Given the description of an element on the screen output the (x, y) to click on. 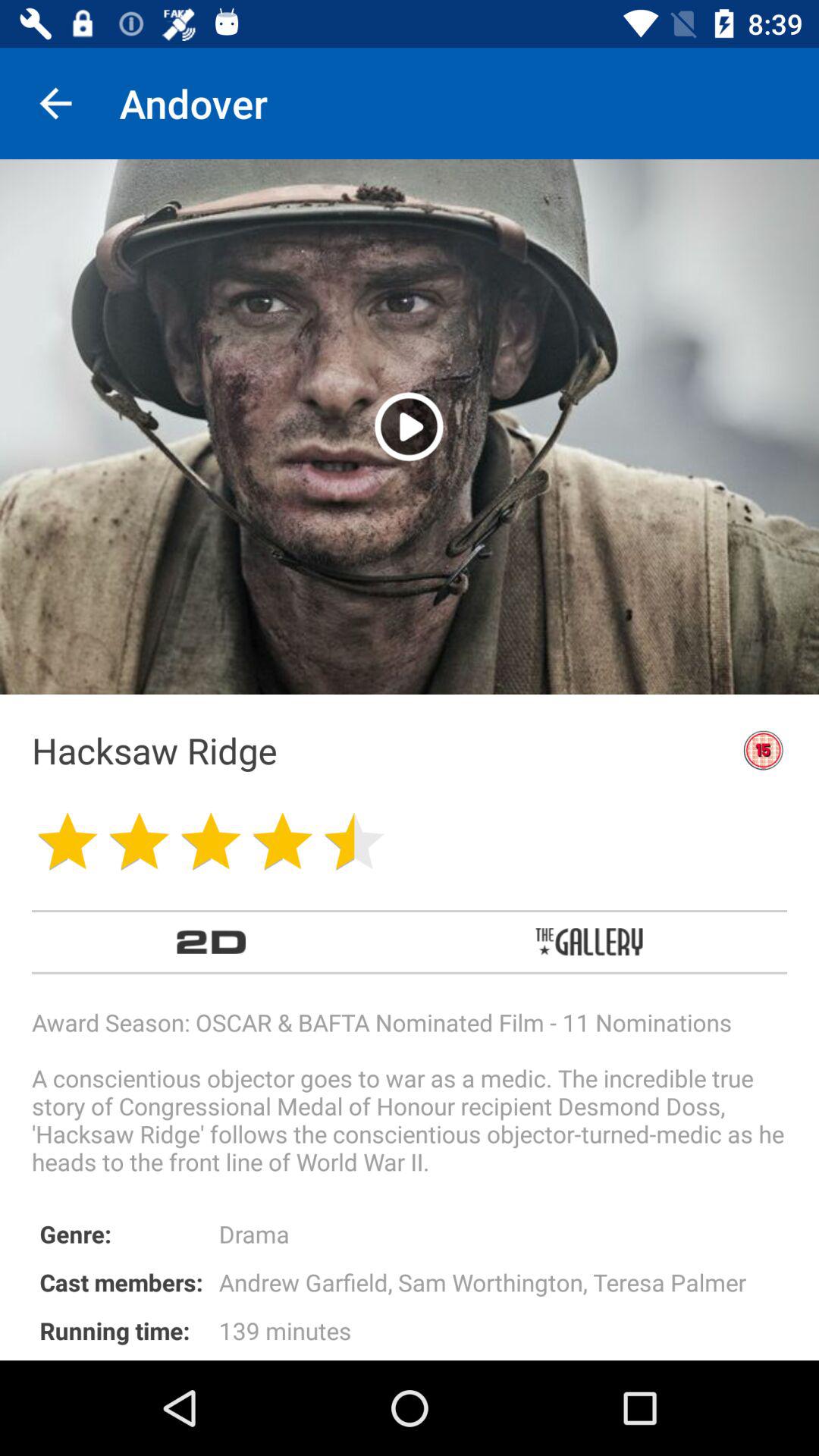
play movie (408, 426)
